Given the description of an element on the screen output the (x, y) to click on. 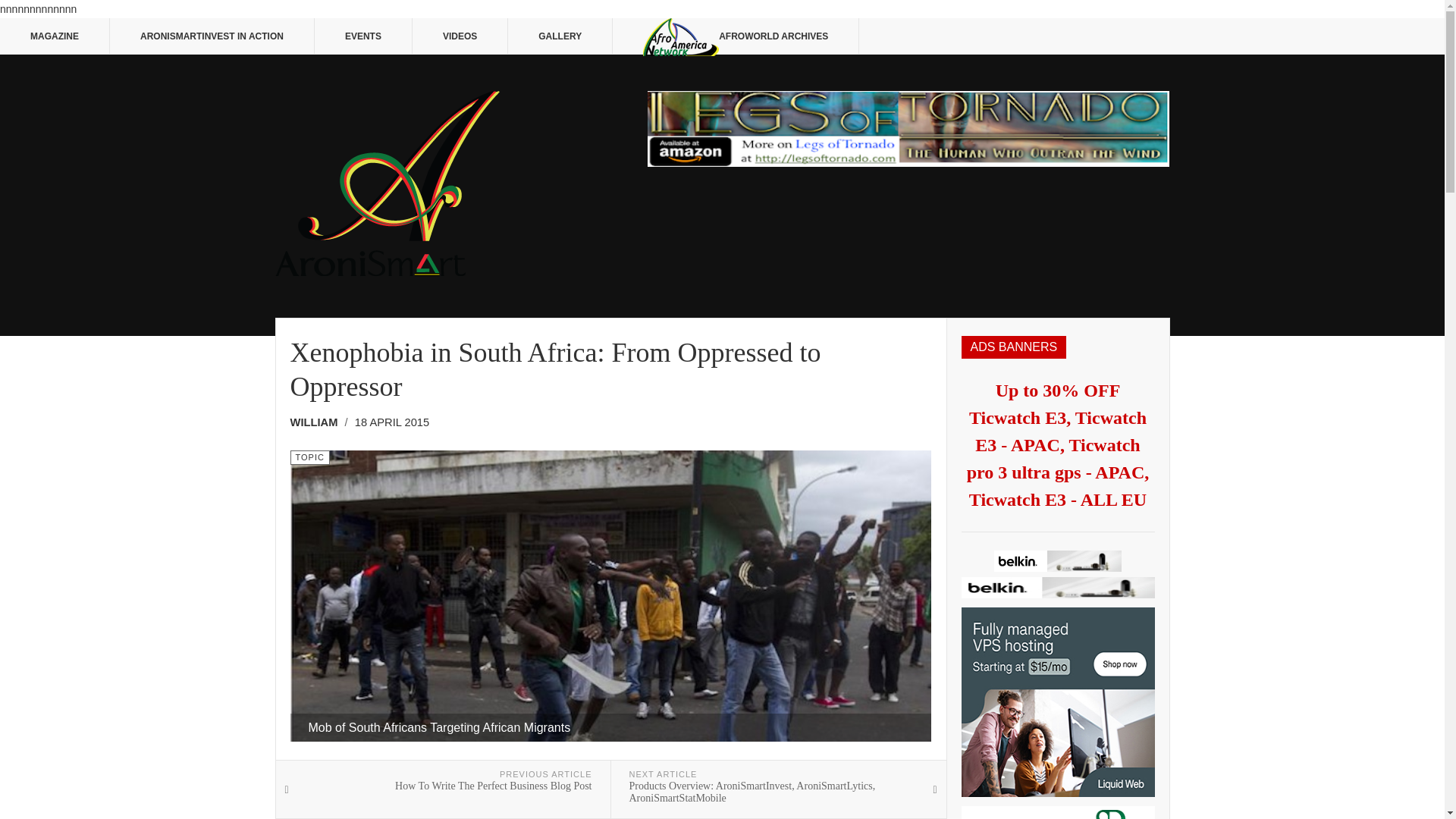
TOPIC (309, 457)
MAGAZINE (55, 36)
AroniSmart (387, 183)
ARONISMARTINVEST IN ACTION (212, 36)
GALLERY (560, 36)
AFROWORLD ARCHIVES (735, 36)
VIDEOS (460, 36)
Written by:  (318, 422)
Published:  (392, 422)
EVENTS (363, 36)
